Given the description of an element on the screen output the (x, y) to click on. 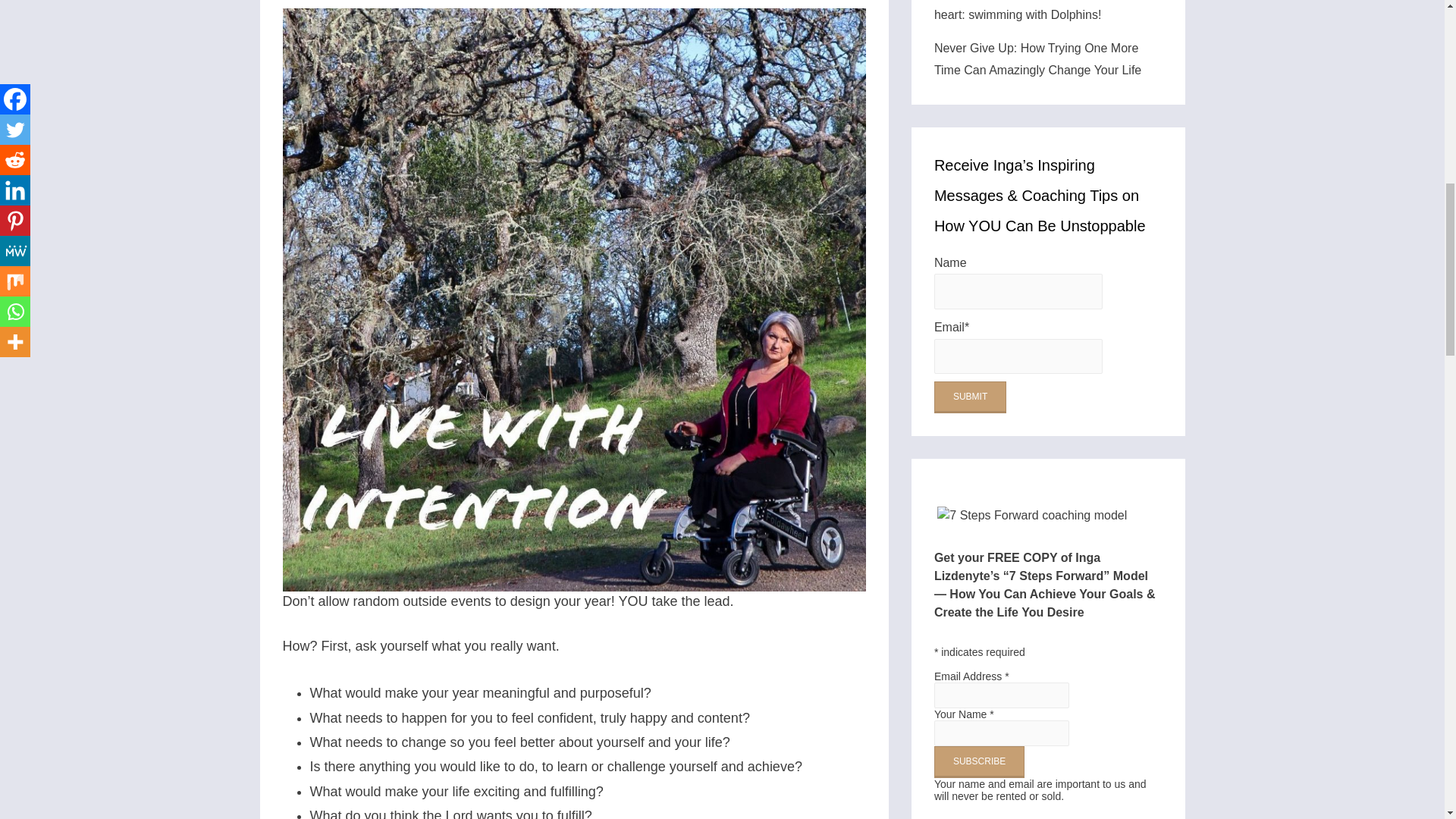
Submit (970, 397)
Subscribe (979, 762)
